Given the description of an element on the screen output the (x, y) to click on. 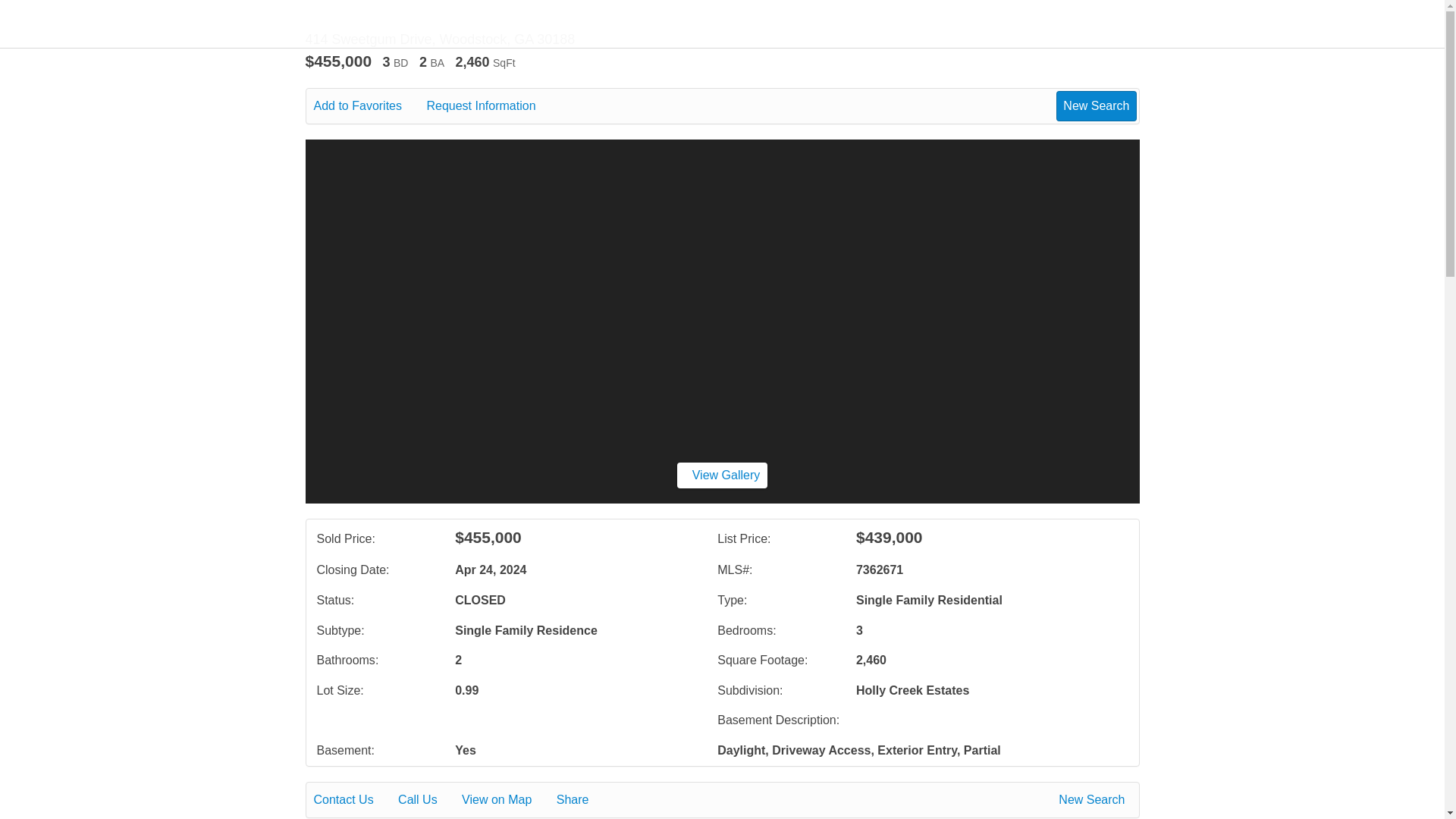
Add to Favorites (368, 106)
View on Map (507, 799)
Contact Us (354, 799)
New Search (1096, 105)
New Search (1094, 799)
View Gallery (722, 475)
Share (583, 799)
Request Information (491, 106)
Call Us (427, 799)
View Gallery (722, 474)
